Given the description of an element on the screen output the (x, y) to click on. 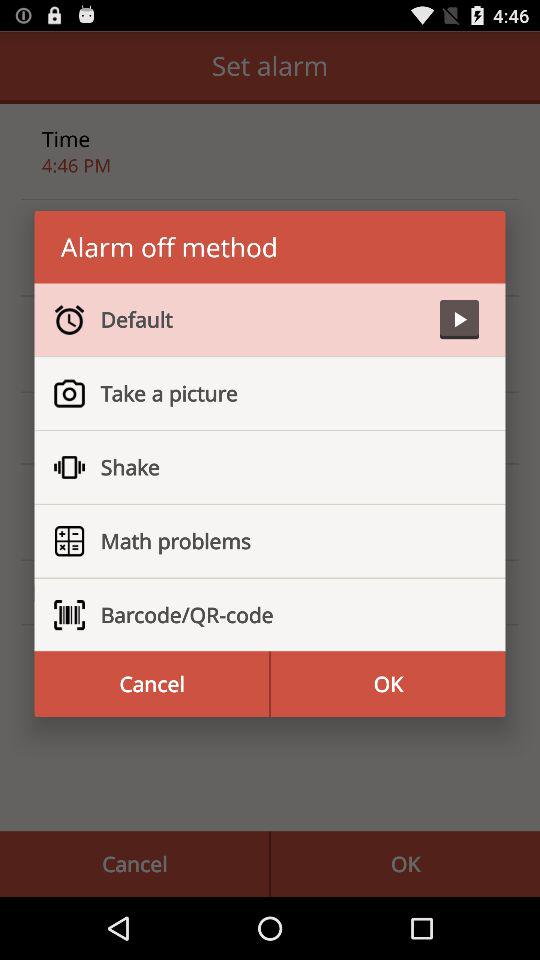
launch icon to the right of the default item (459, 319)
